Given the description of an element on the screen output the (x, y) to click on. 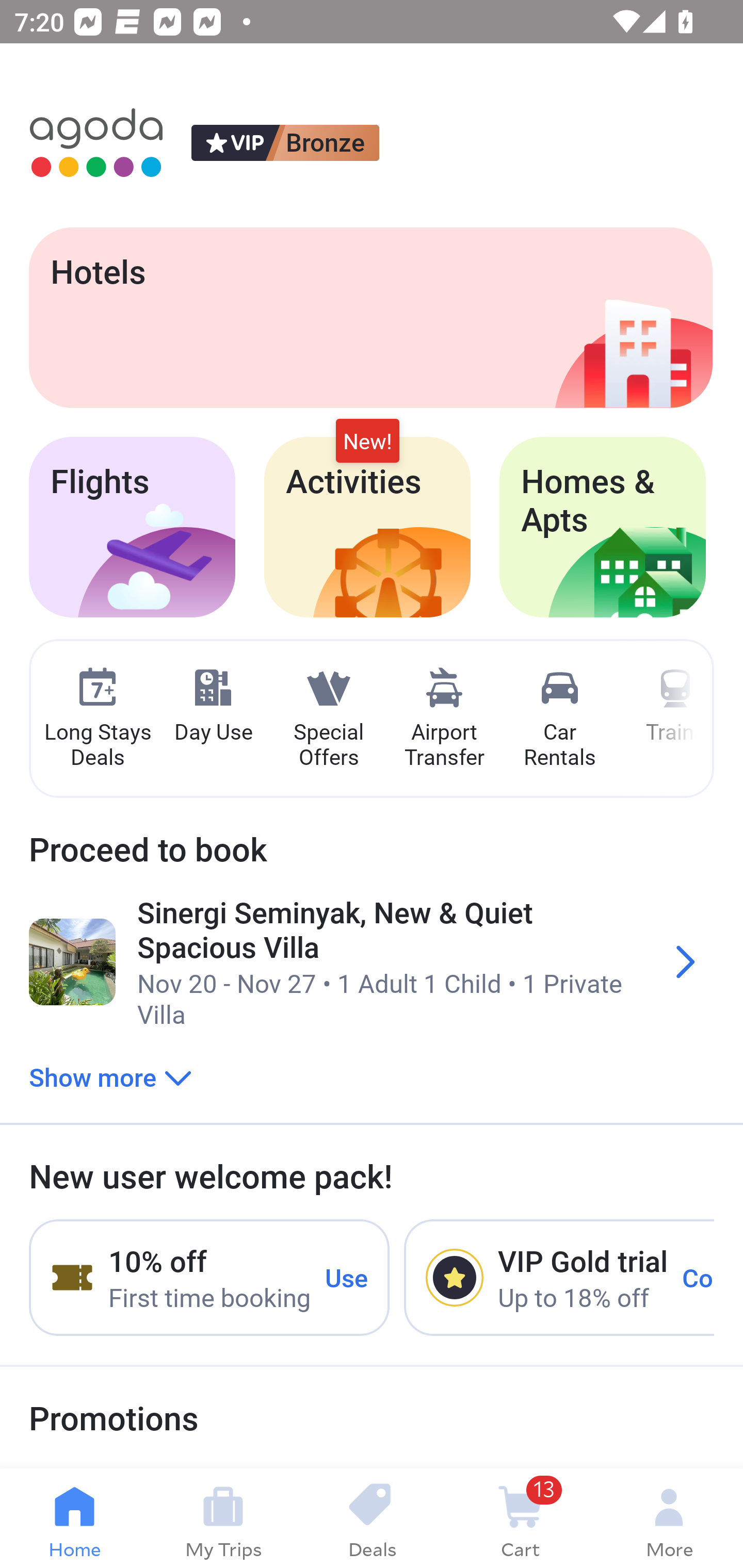
Hotels (370, 317)
New! (367, 441)
Flights (131, 527)
Activities (367, 527)
Homes & Apts (602, 527)
Day Use (213, 706)
Long Stays Deals (97, 718)
Special Offers (328, 718)
Airport Transfer (444, 718)
Car Rentals (559, 718)
Show more (110, 1076)
Use (346, 1277)
Home (74, 1518)
My Trips (222, 1518)
Deals (371, 1518)
13 Cart (519, 1518)
More (668, 1518)
